Given the description of an element on the screen output the (x, y) to click on. 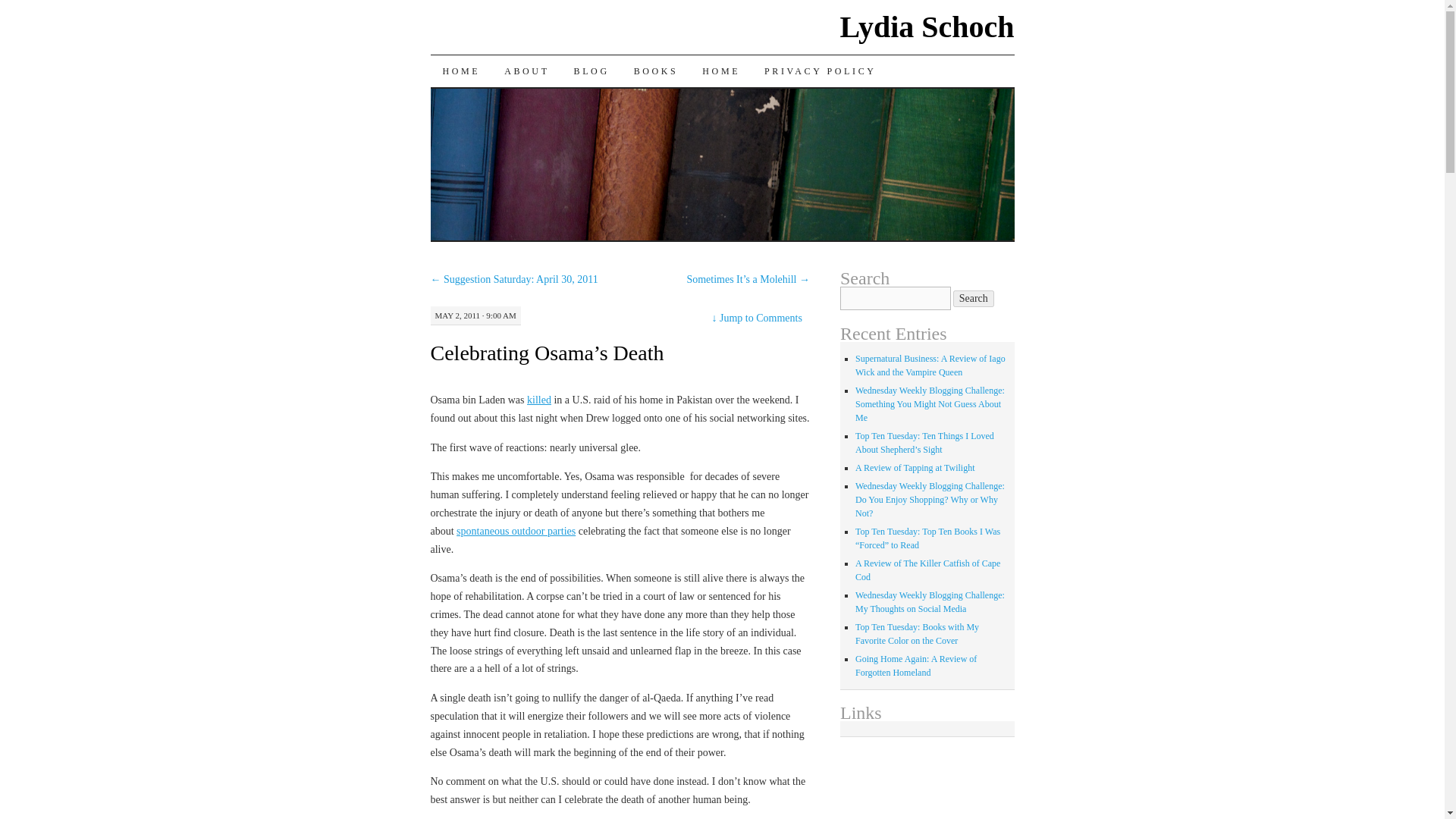
ABOUT (526, 70)
BOOKS (655, 70)
HOME (461, 70)
BLOG (591, 70)
spontaneous outdoor parties (516, 531)
Search (973, 298)
Lydia Schoch (926, 26)
Lydia Schoch (926, 26)
killed (539, 399)
HOME (721, 70)
PRIVACY POLICY (820, 70)
